Given the description of an element on the screen output the (x, y) to click on. 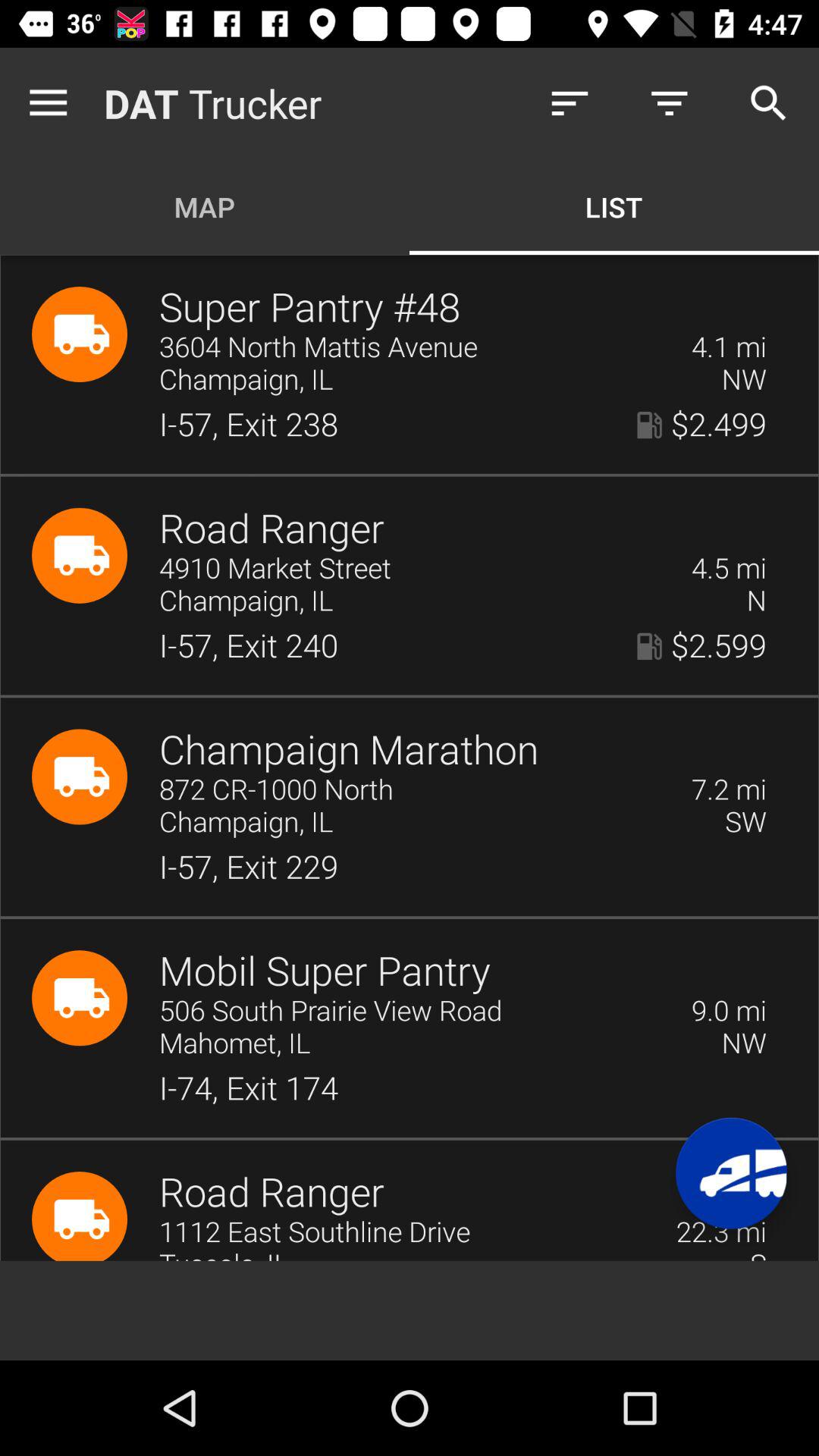
turn on icon to the left of the dat icon (52, 103)
